Given the description of an element on the screen output the (x, y) to click on. 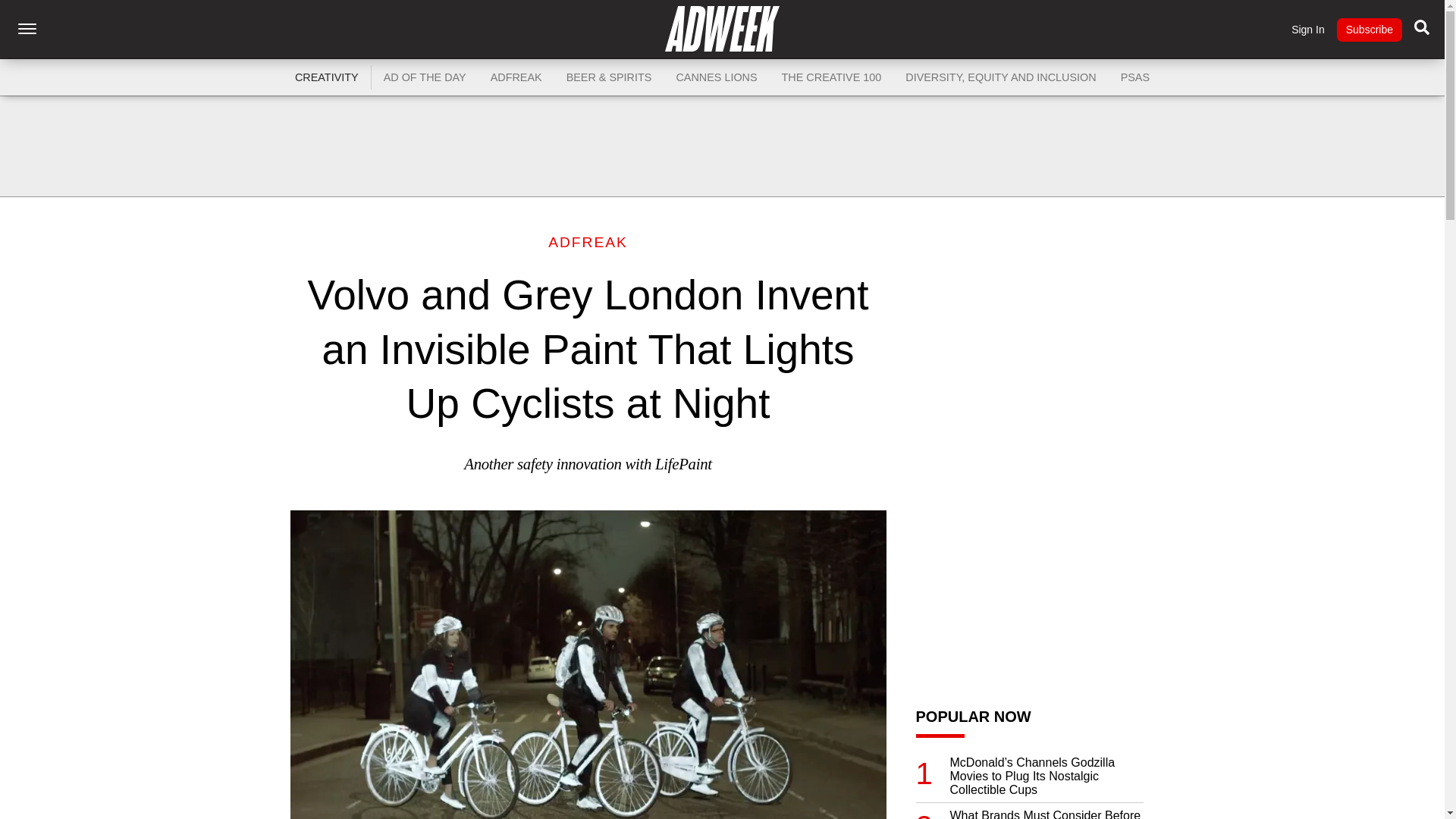
CANNES LIONS (715, 77)
CREATIVITY (326, 77)
Subscribe (1369, 29)
Sign In (1307, 29)
AD OF THE DAY (425, 77)
DIVERSITY, EQUITY AND INCLUSION (1000, 77)
ADFREAK (516, 77)
PSAS (1134, 77)
THE CREATIVE 100 (831, 77)
